Given the description of an element on the screen output the (x, y) to click on. 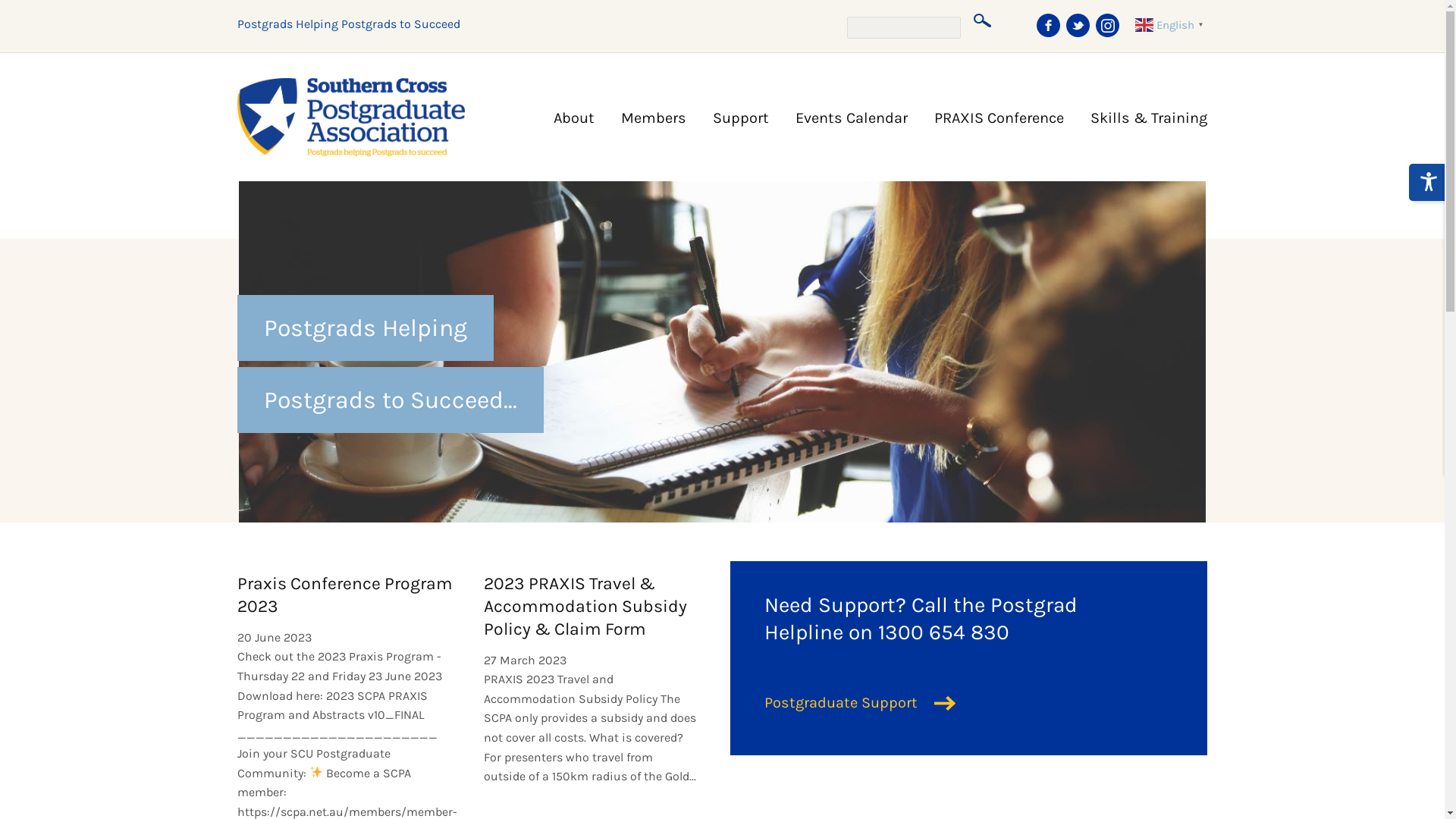
Events Calendar Element type: text (837, 110)
Postgraduate Support Element type: text (869, 702)
Praxis Conference Program 2023 Element type: text (343, 597)
Support Element type: text (727, 110)
Postgrads helping postgrads to succeed Element type: hover (350, 117)
About Element type: text (560, 110)
Skills & Training Element type: text (1135, 110)
PRAXIS Conference Element type: text (985, 110)
Members Element type: text (640, 110)
